Given the description of an element on the screen output the (x, y) to click on. 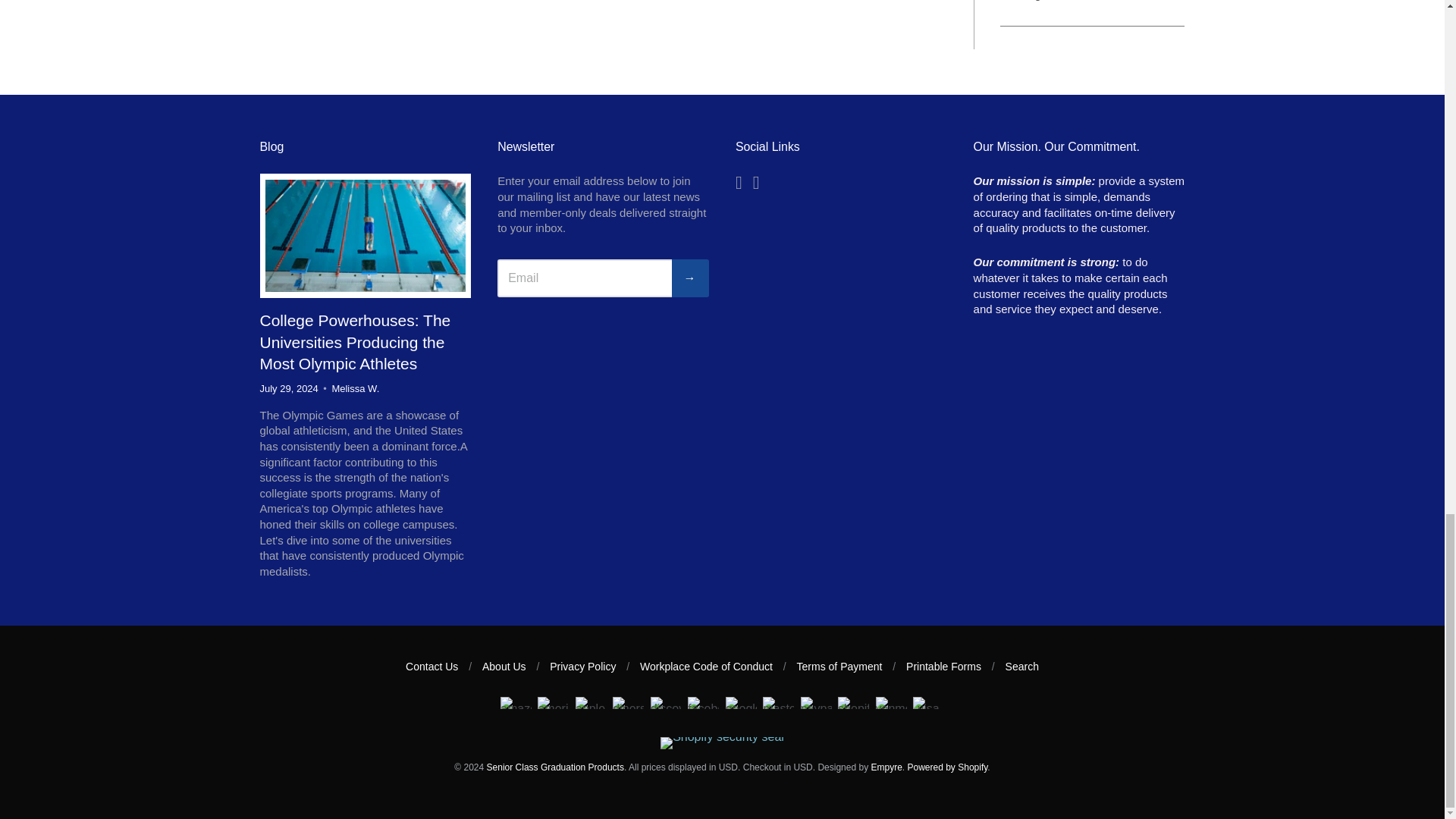
This online store is secured by Shopify (722, 736)
